Given the description of an element on the screen output the (x, y) to click on. 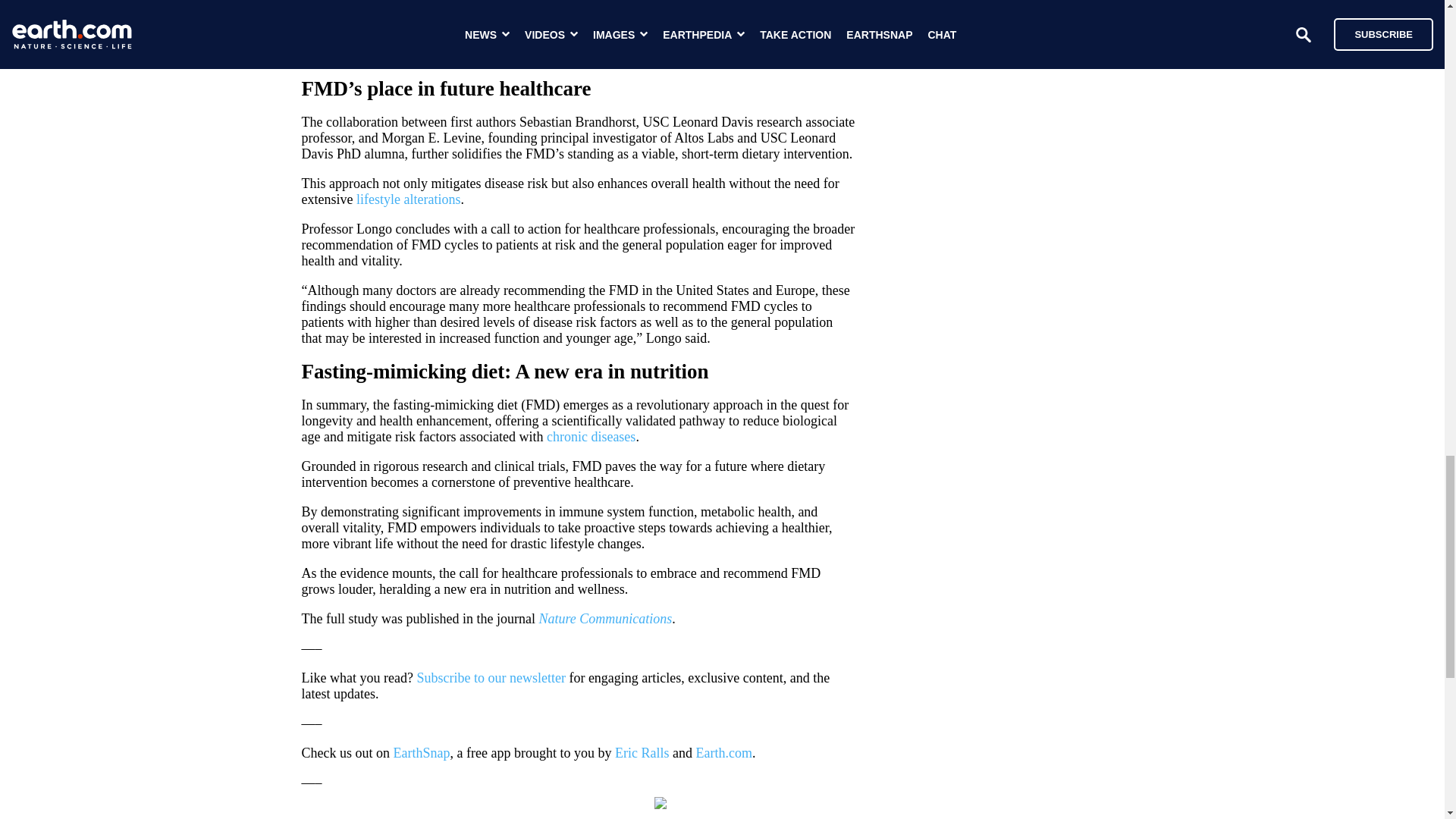
EarthSnap (421, 752)
chronic diseases (590, 436)
Eric Ralls (641, 752)
Earth.com (723, 752)
lifestyle alterations (408, 199)
Nature Communications (604, 618)
Subscribe to our newsletter (490, 677)
